Given the description of an element on the screen output the (x, y) to click on. 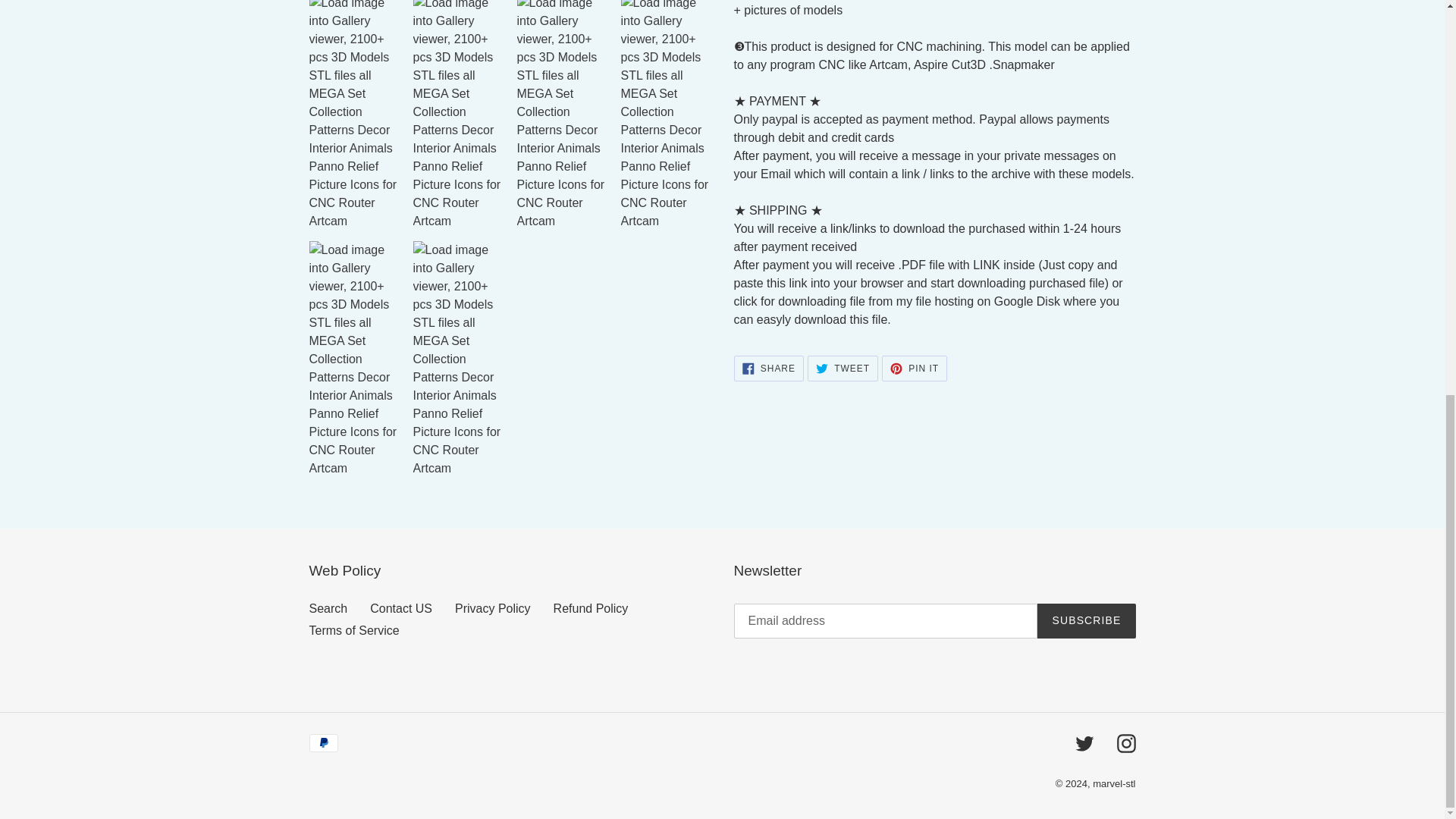
Privacy Policy (492, 608)
SUBSCRIBE (914, 368)
Terms of Service (1085, 620)
Search (842, 368)
Refund Policy (353, 630)
Contact US (327, 608)
